Given the description of an element on the screen output the (x, y) to click on. 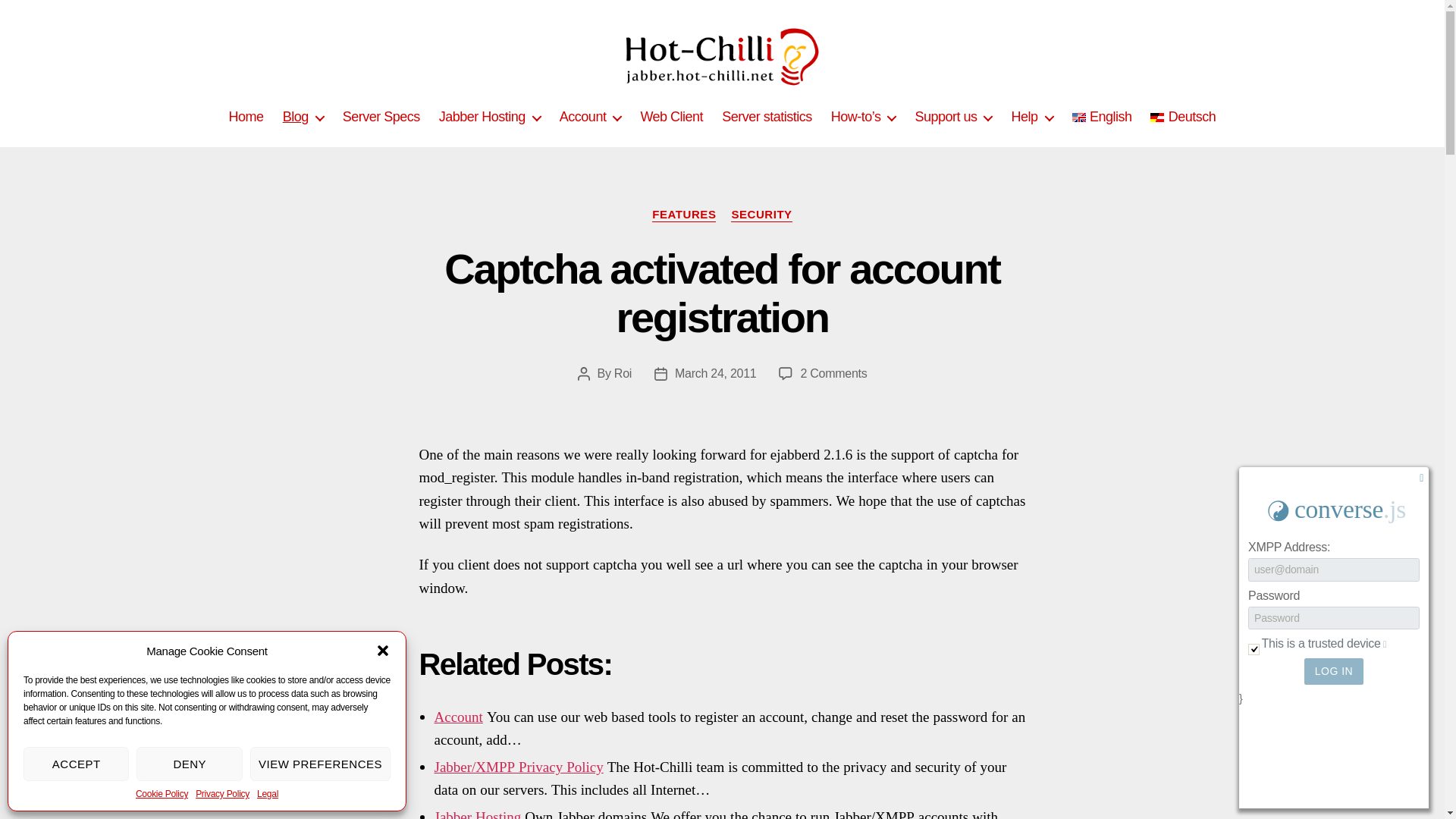
Support us (952, 117)
Home (245, 117)
Help (1031, 117)
DENY (188, 763)
ACCEPT (76, 763)
Server Specs (381, 117)
Deutsch (1182, 117)
English (1101, 117)
Cookie Policy (161, 793)
Privacy Policy (221, 793)
Web Client (671, 117)
Server statistics (767, 117)
Legal (267, 793)
Account (590, 117)
Jabber Hosting (489, 117)
